Given the description of an element on the screen output the (x, y) to click on. 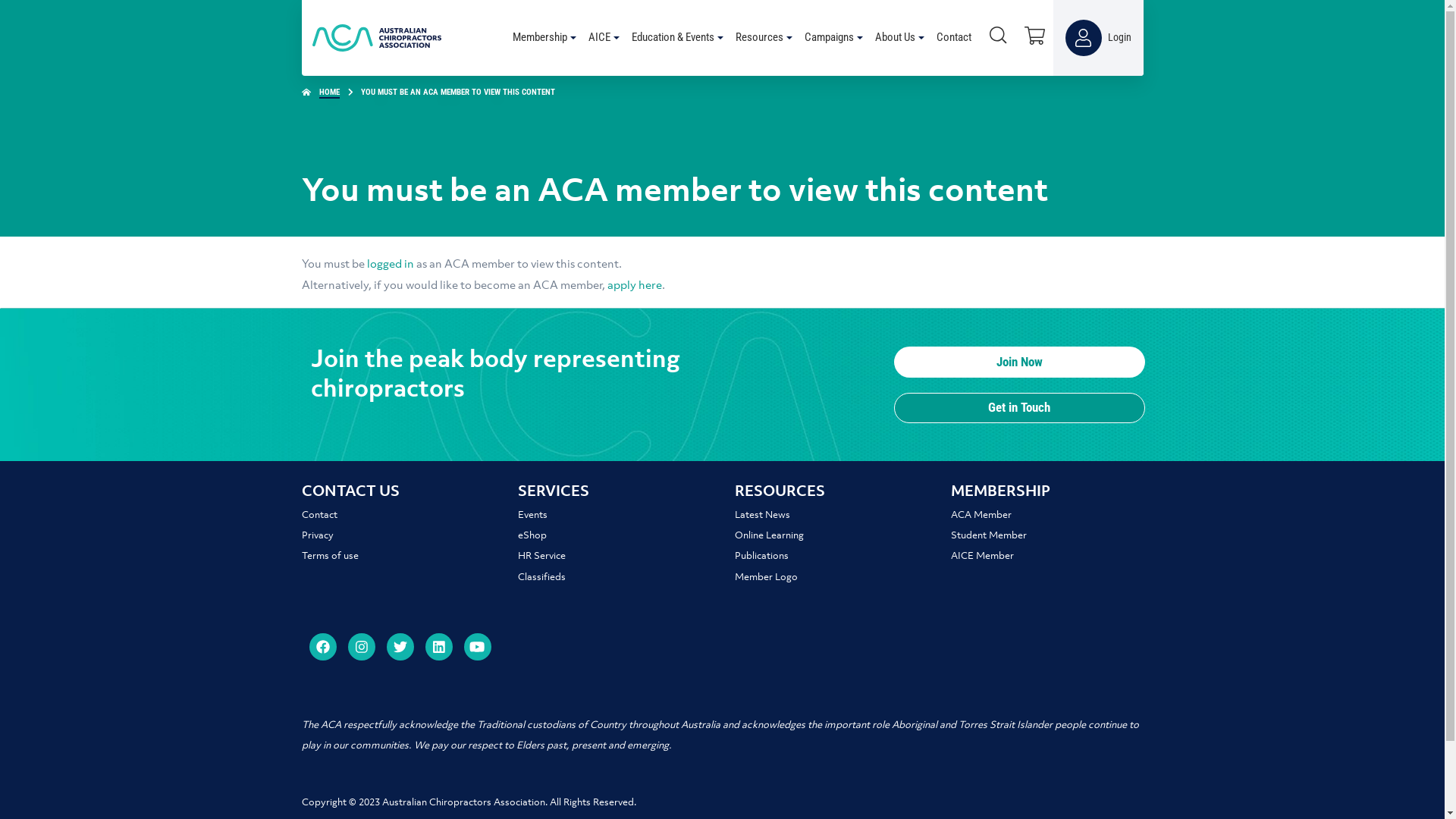
apply here Element type: text (633, 286)
Get in Touch Element type: text (1019, 407)
ACA Member Element type: text (980, 515)
Education & Events Element type: text (676, 37)
Member Logo Element type: text (765, 577)
View cart Element type: text (1034, 35)
Privacy Element type: text (317, 535)
logged in Element type: text (390, 265)
HOME Element type: text (329, 92)
Contact Element type: text (954, 37)
Campaigns Element type: text (832, 37)
AICE Element type: text (603, 37)
Events Element type: text (532, 515)
Login Element type: text (1097, 37)
Membership Element type: text (544, 37)
Resources Element type: text (763, 37)
Classifieds Element type: text (541, 577)
About Us Element type: text (899, 37)
Terms of use Element type: text (329, 556)
Publications Element type: text (760, 556)
Latest News Element type: text (761, 515)
HR Service Element type: text (541, 556)
Contact Element type: text (319, 515)
AICE Member Element type: text (981, 556)
eShop Element type: text (531, 535)
Join Now Element type: text (1019, 362)
Student Member Element type: text (988, 535)
Online Learning Element type: text (768, 535)
Search Element type: text (997, 35)
